Given the description of an element on the screen output the (x, y) to click on. 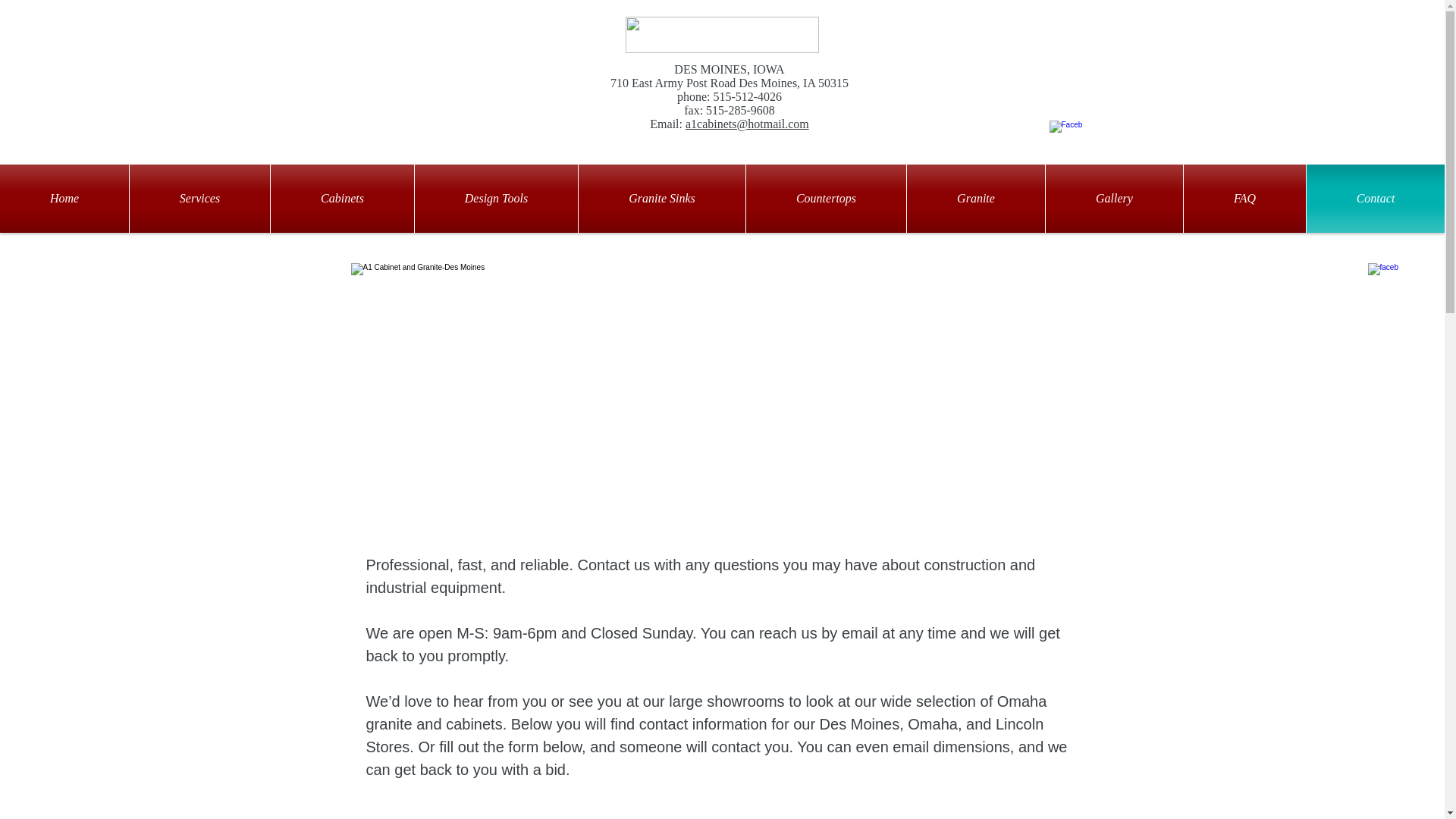
FAQ (1244, 198)
Design Tools (496, 198)
Gallery (1113, 198)
Home (64, 198)
Countertops (825, 198)
Granite (976, 198)
Granite Sinks (661, 198)
Cabinets (341, 198)
Services (199, 198)
